Given the description of an element on the screen output the (x, y) to click on. 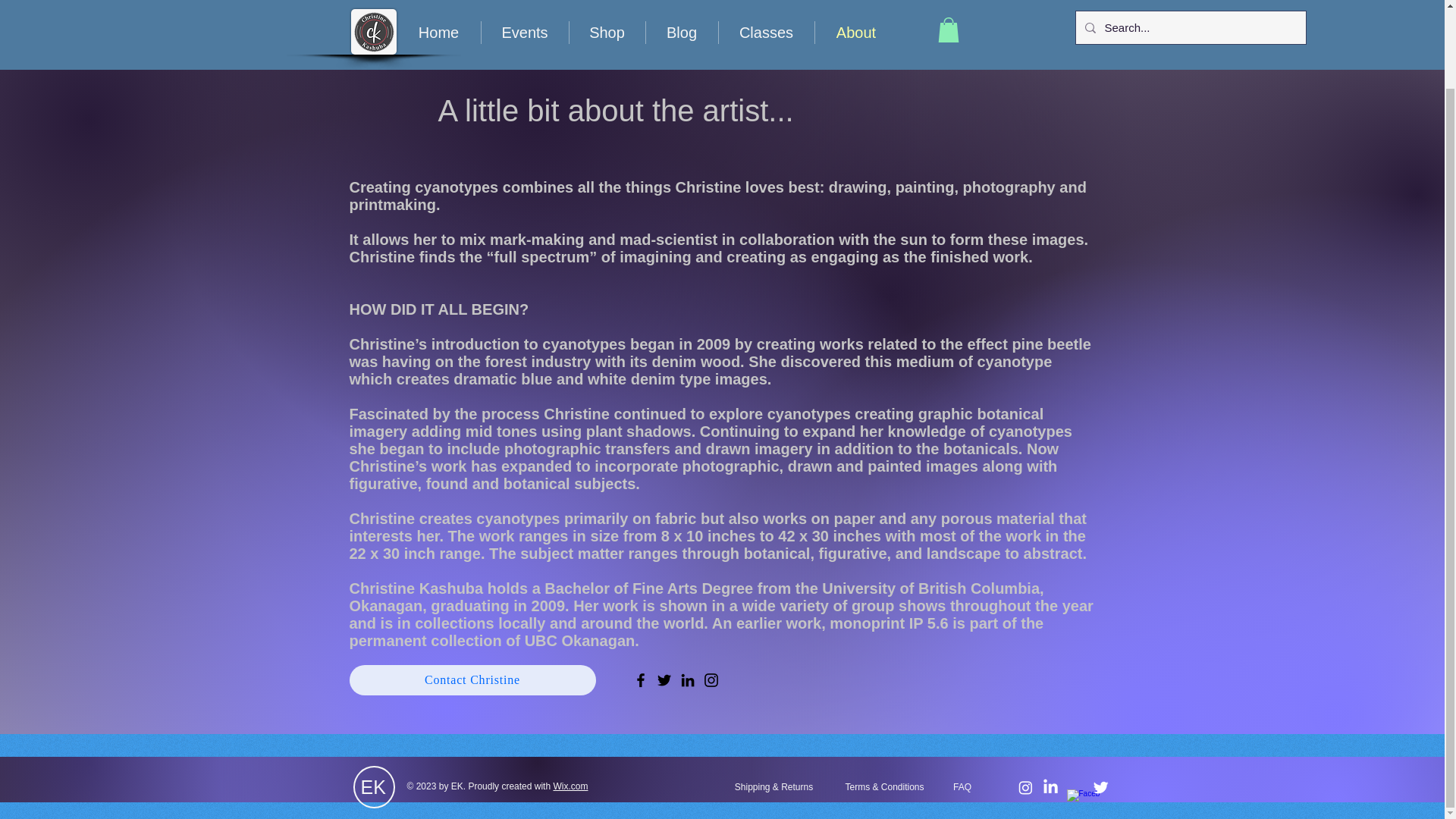
Contact Christine (472, 680)
Wix.com (570, 786)
FAQ (963, 787)
EK (373, 786)
